Given the description of an element on the screen output the (x, y) to click on. 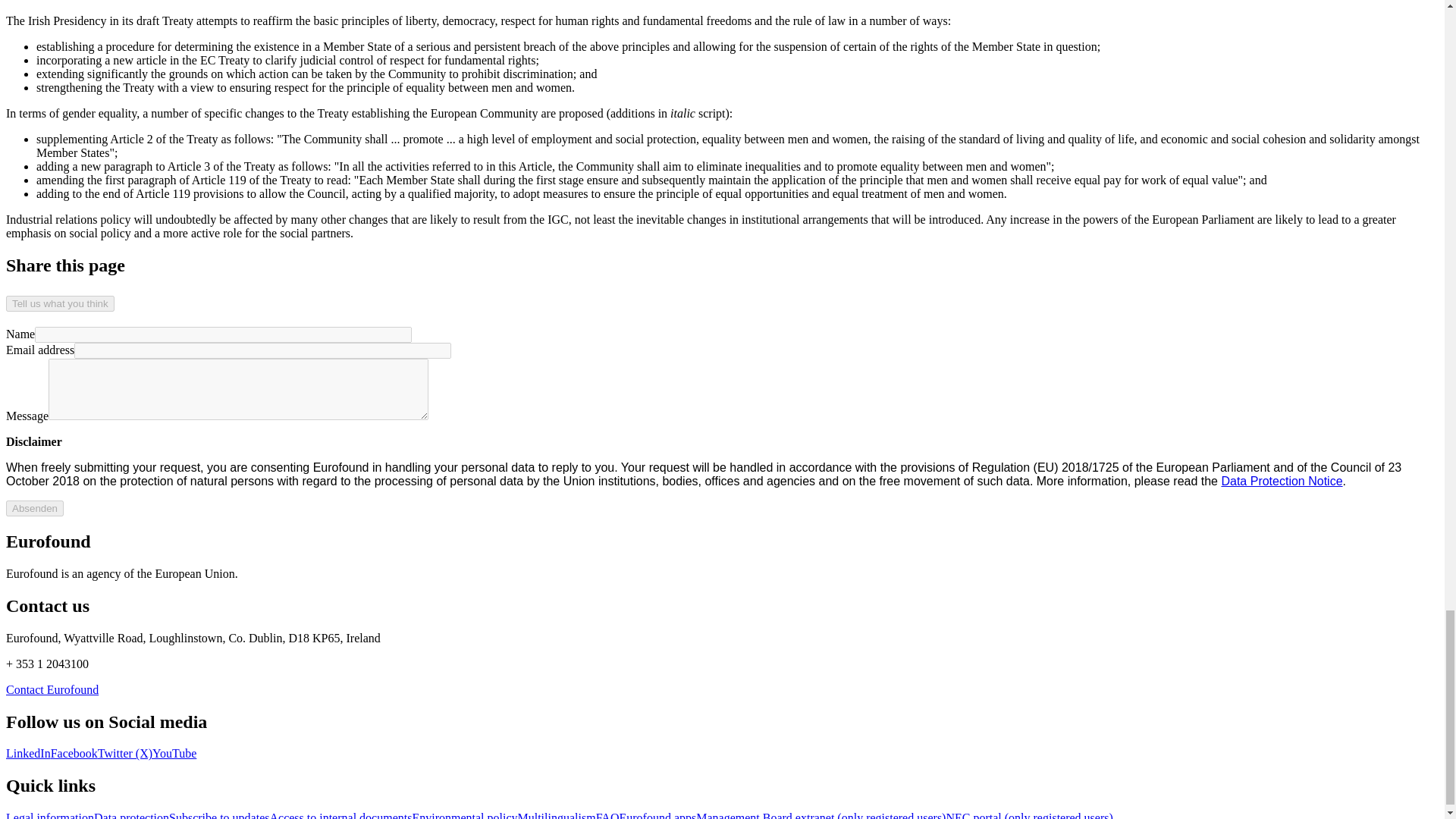
Follow us on X (124, 753)
Subscribe to our YouTube channel (174, 753)
Contact (52, 689)
Absenden (34, 508)
Follow us on LinkedIn (27, 753)
Follow us on Facebook (73, 753)
